Given the description of an element on the screen output the (x, y) to click on. 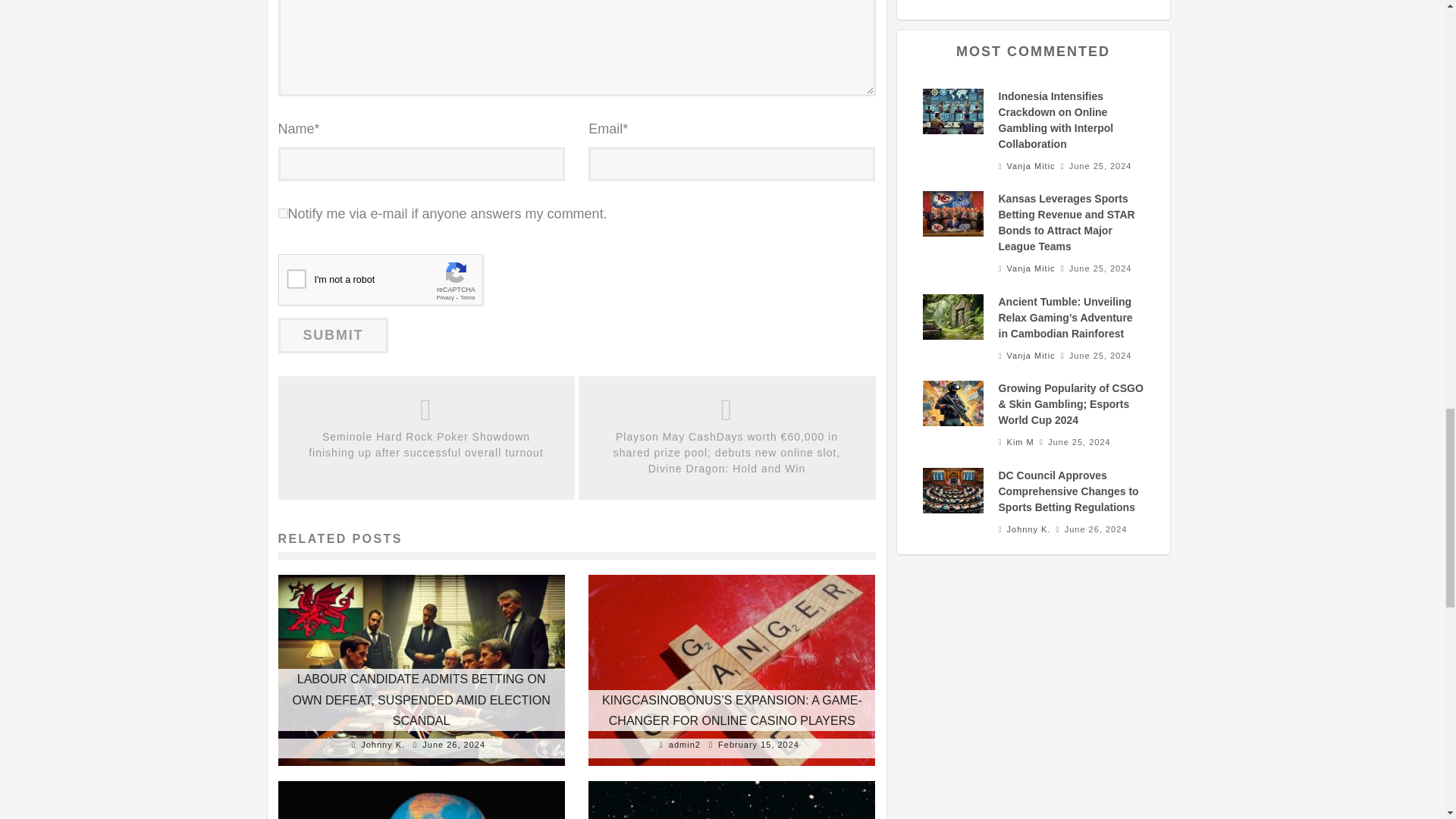
on (282, 213)
Submit (333, 334)
